Given the description of an element on the screen output the (x, y) to click on. 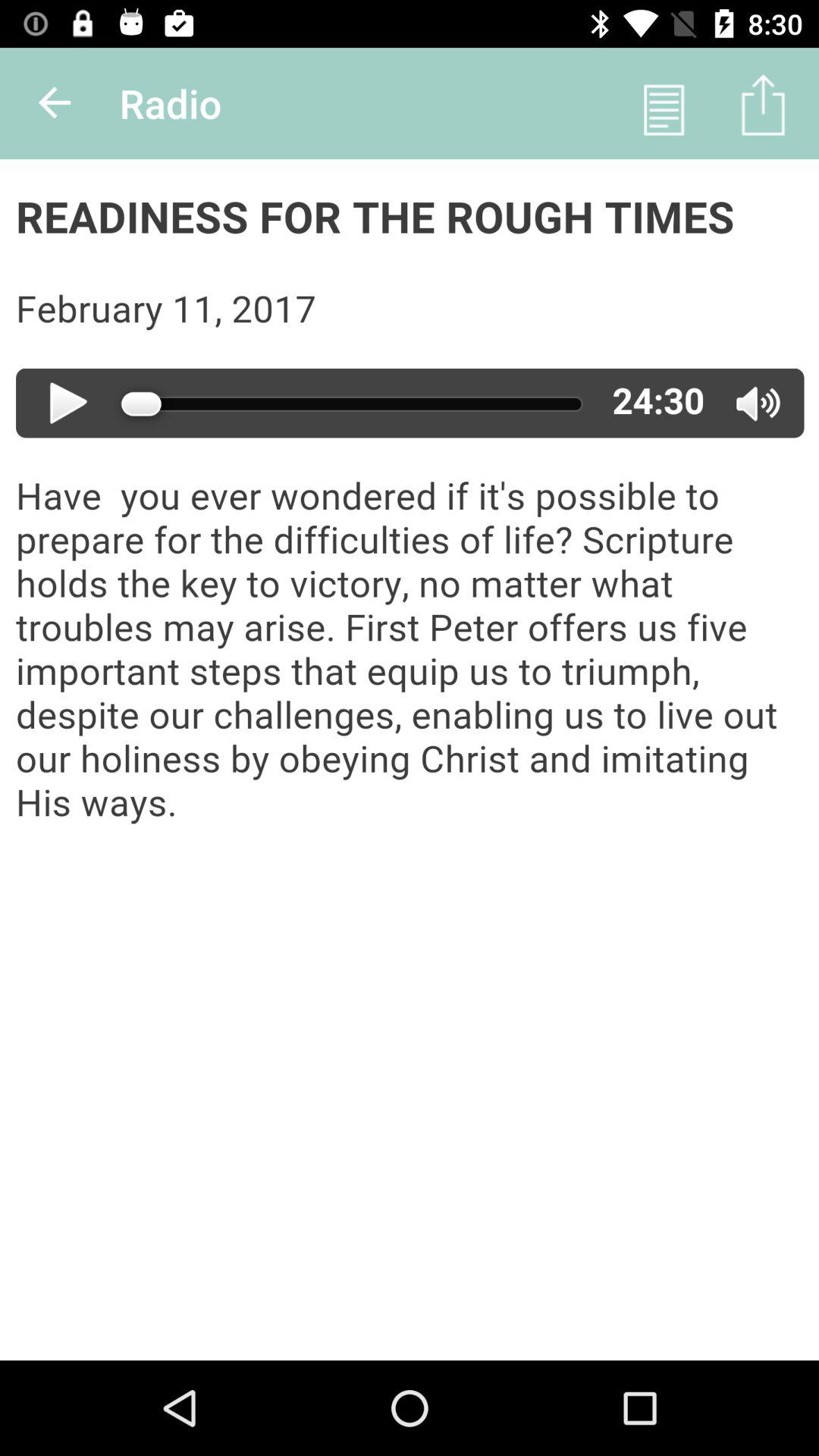
go to back putton (55, 103)
